Given the description of an element on the screen output the (x, y) to click on. 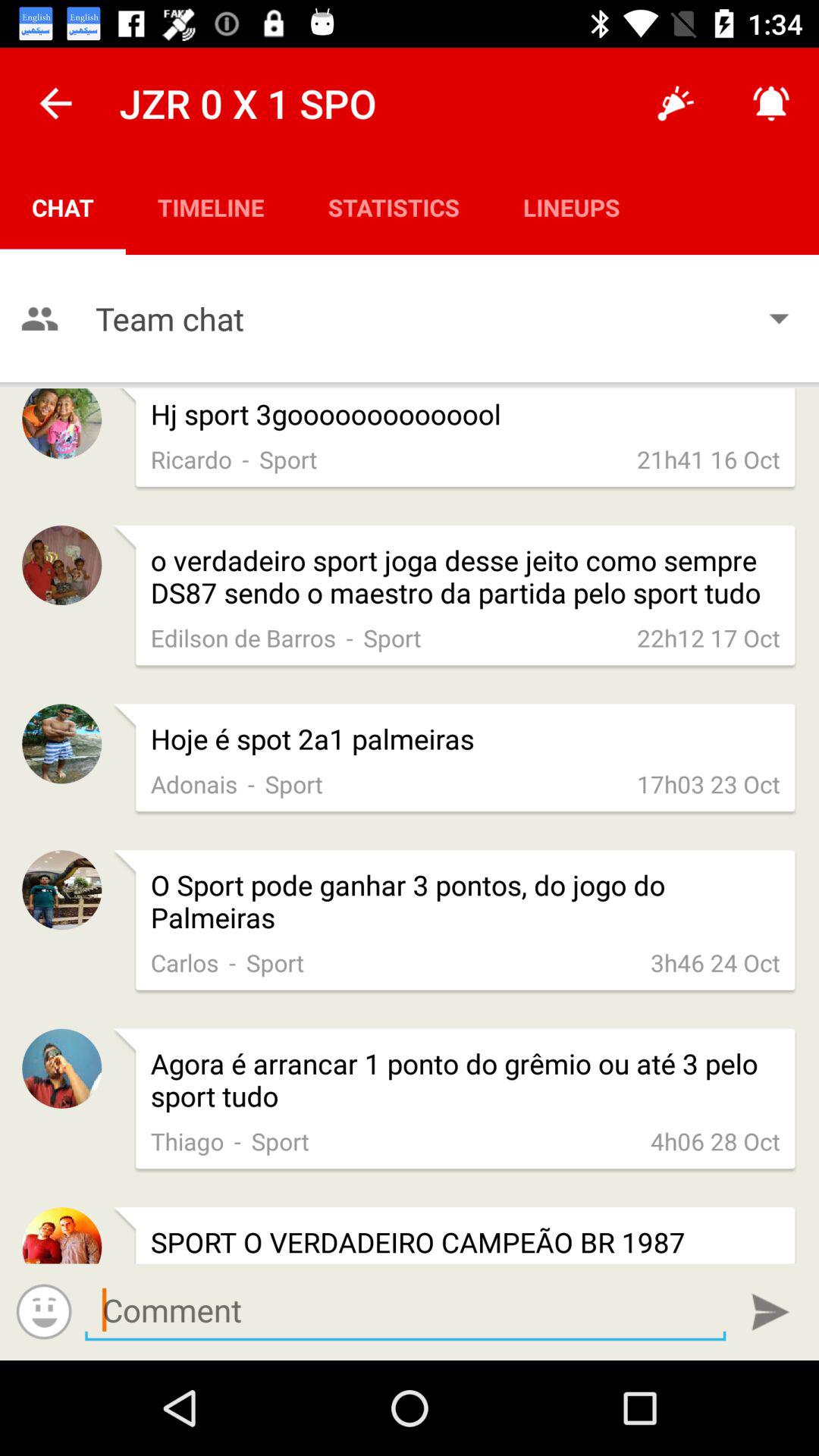
submit comment (770, 1312)
